Given the description of an element on the screen output the (x, y) to click on. 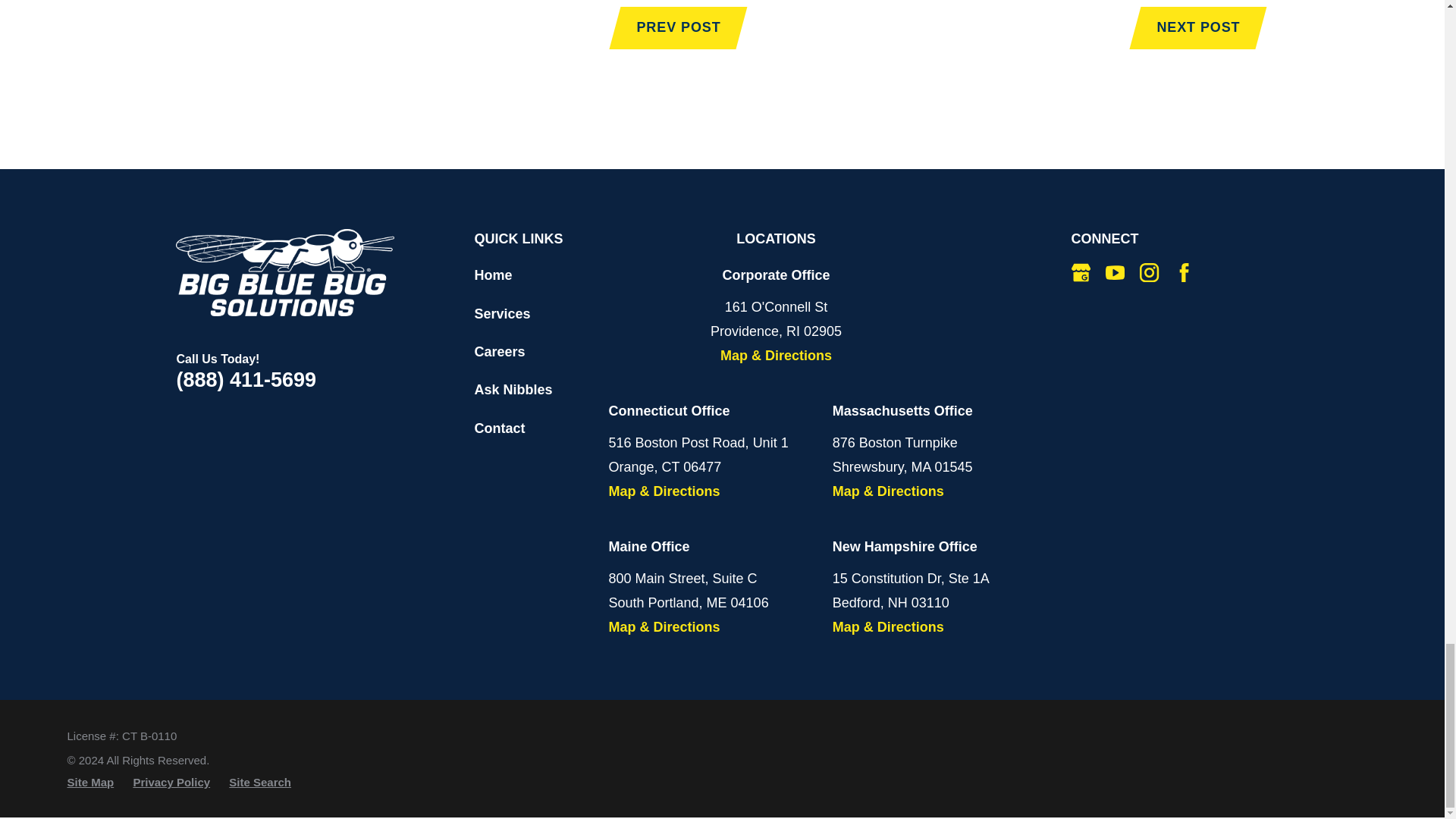
Home (285, 272)
Google Business Profile (1080, 271)
YouTube (1114, 271)
Instagram (1149, 271)
Facebook (1183, 271)
